Given the description of an element on the screen output the (x, y) to click on. 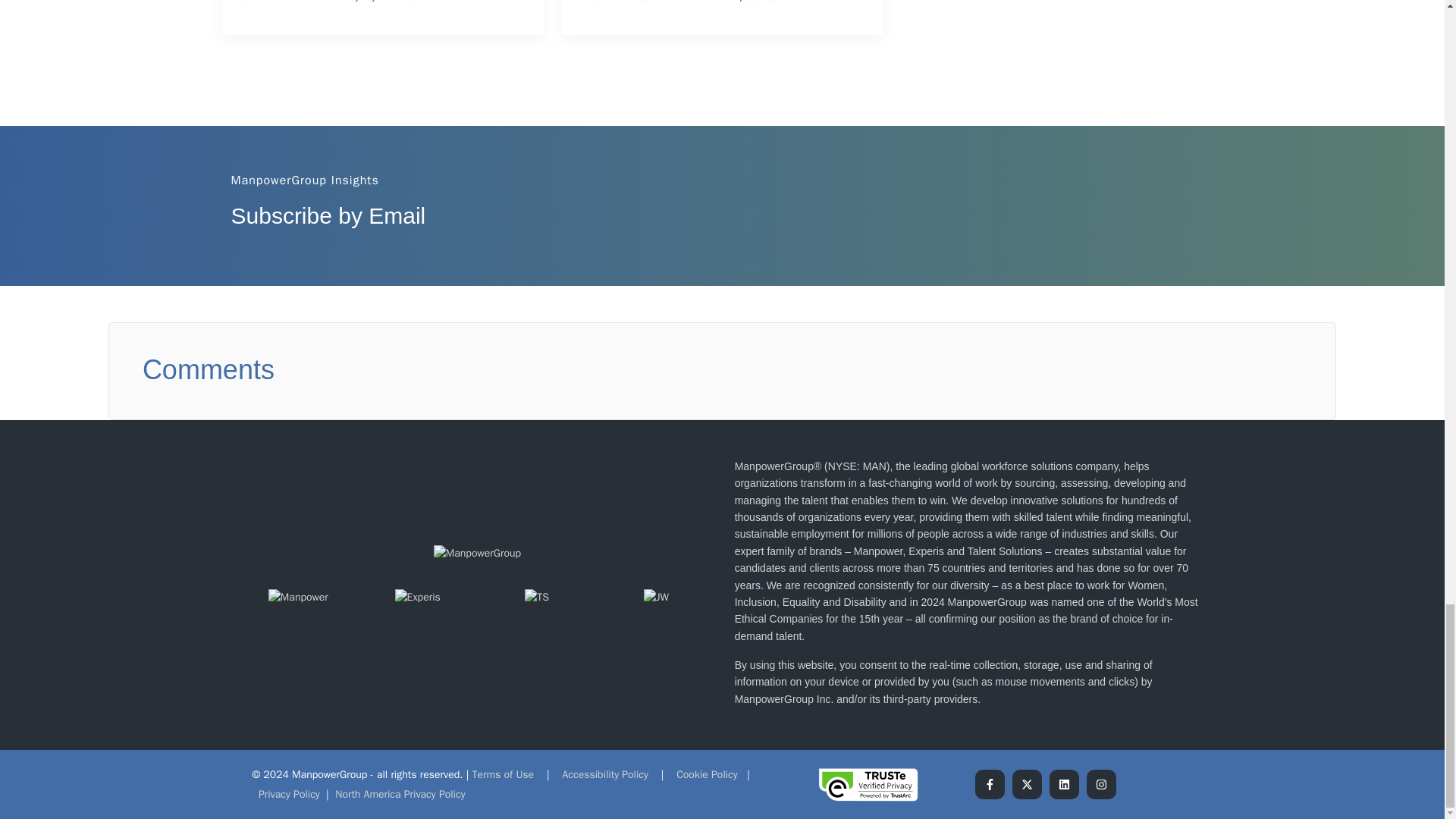
JW (655, 597)
TS (536, 597)
ManpowerGroup (477, 553)
Manpower (298, 597)
Experis (417, 597)
